Given the description of an element on the screen output the (x, y) to click on. 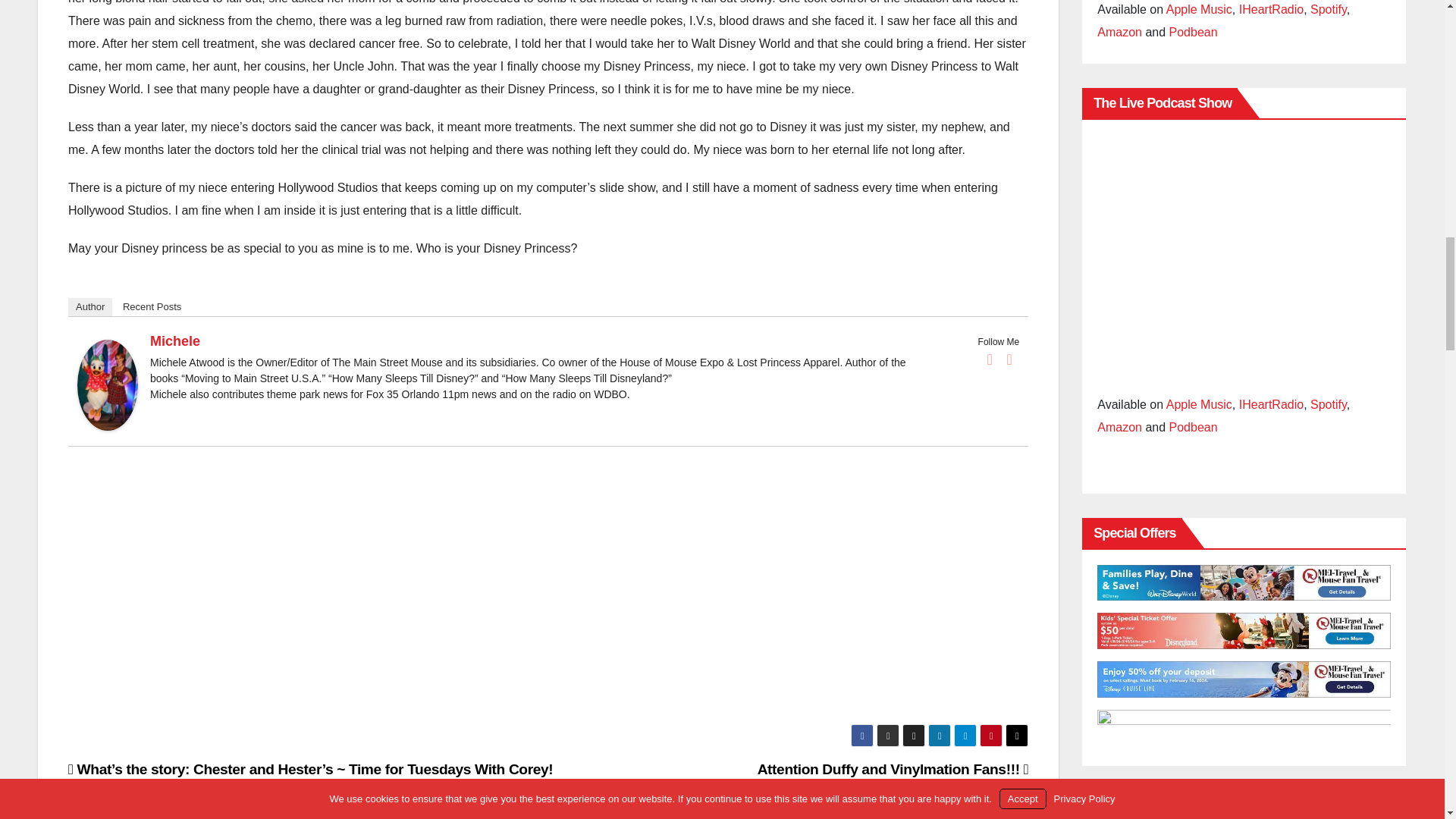
Michele (174, 340)
Recent Posts (152, 307)
Author (90, 307)
